Given the description of an element on the screen output the (x, y) to click on. 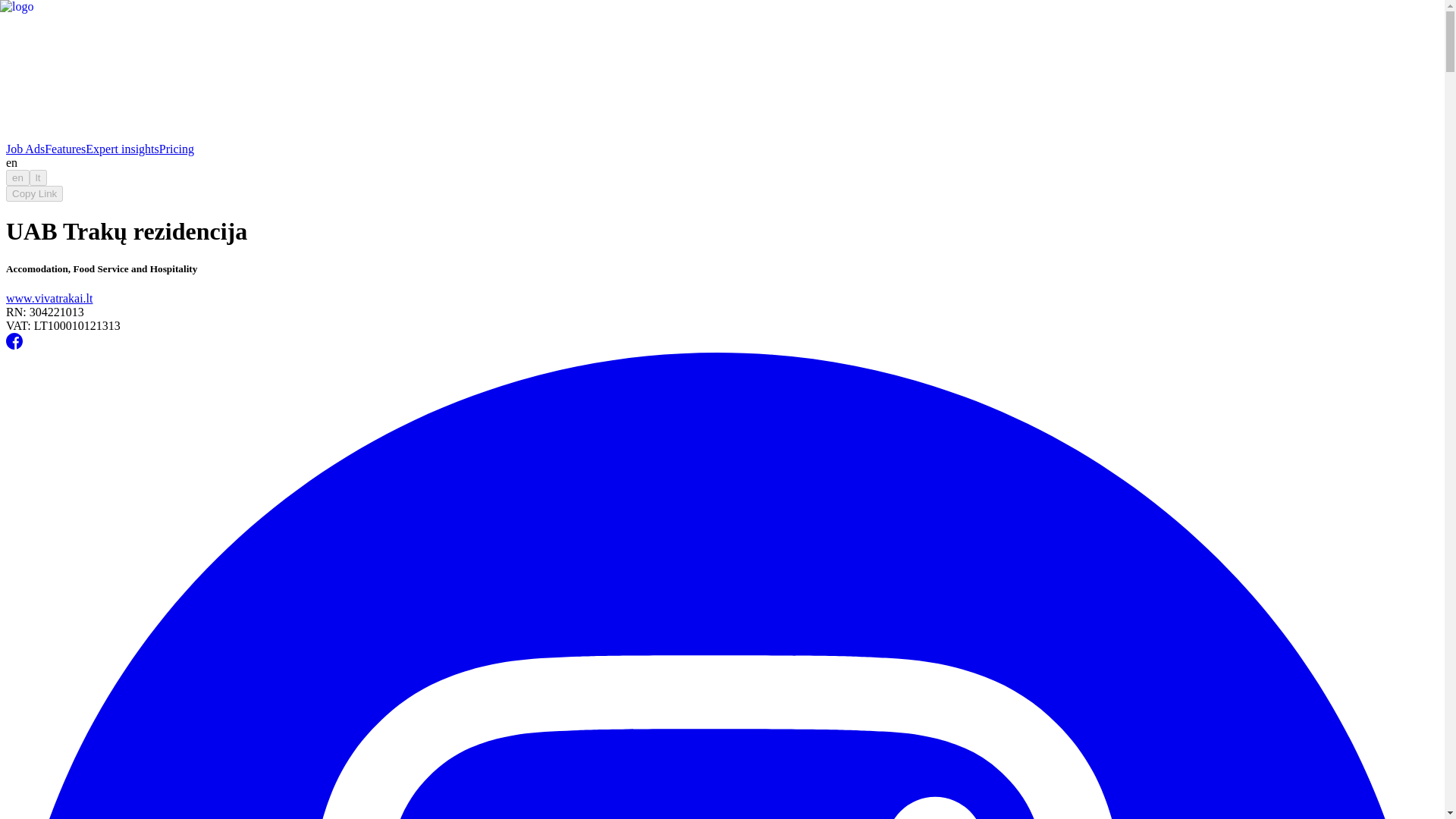
Copy Link (33, 193)
www.vivatrakai.lt (49, 297)
en (17, 177)
Features (65, 148)
Job Ads (25, 148)
Pricing (175, 148)
Expert insights (121, 148)
lt (37, 177)
